Given the description of an element on the screen output the (x, y) to click on. 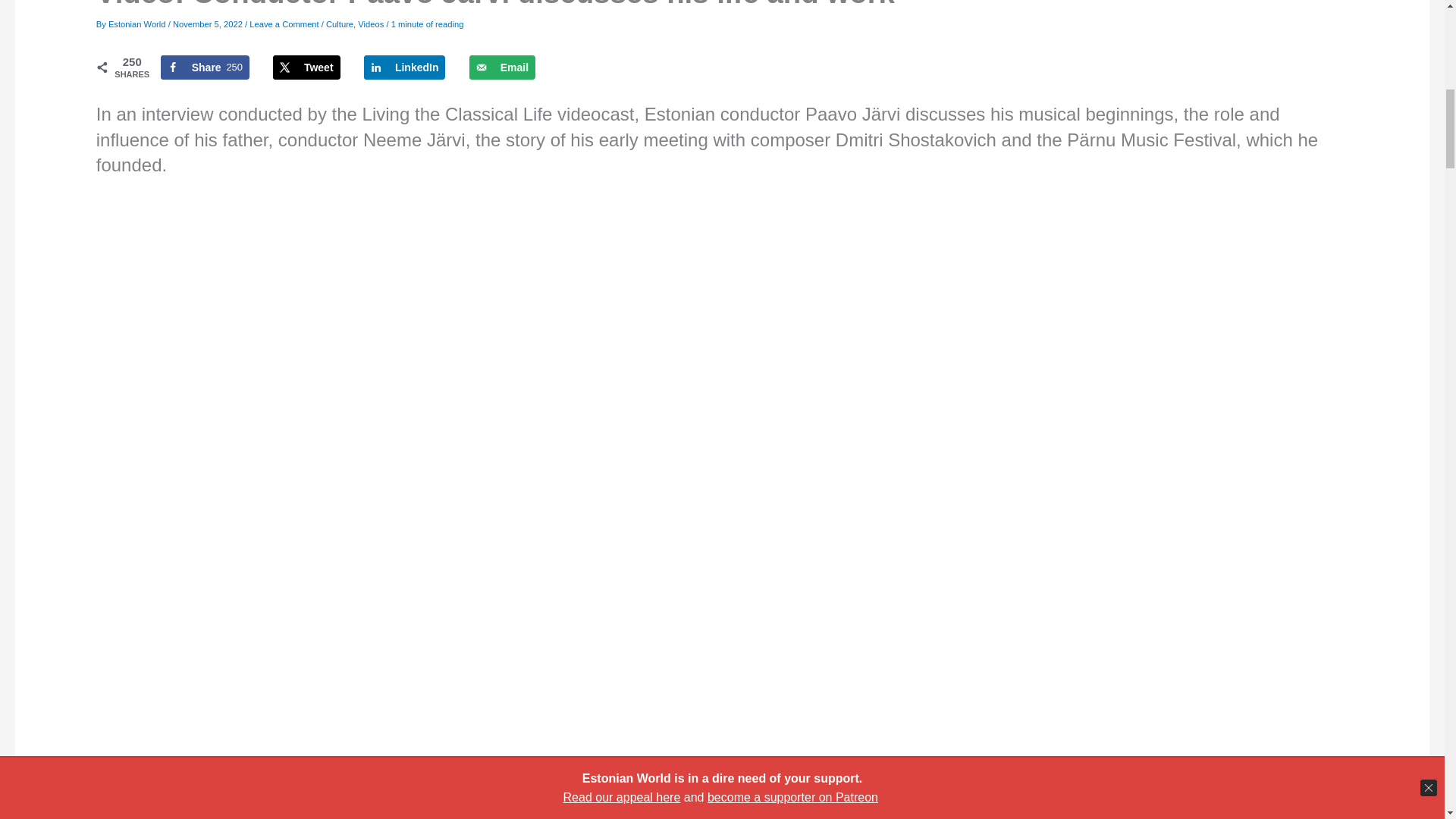
LinkedIn (404, 67)
Culture (339, 23)
Videos (371, 23)
View all posts by Estonian World (137, 23)
Send over email (501, 67)
Share on LinkedIn (404, 67)
Tweet (306, 67)
Email (501, 67)
Leave a Comment (283, 23)
Estonian World (137, 23)
Share on X (204, 67)
Share on Facebook (306, 67)
